Given the description of an element on the screen output the (x, y) to click on. 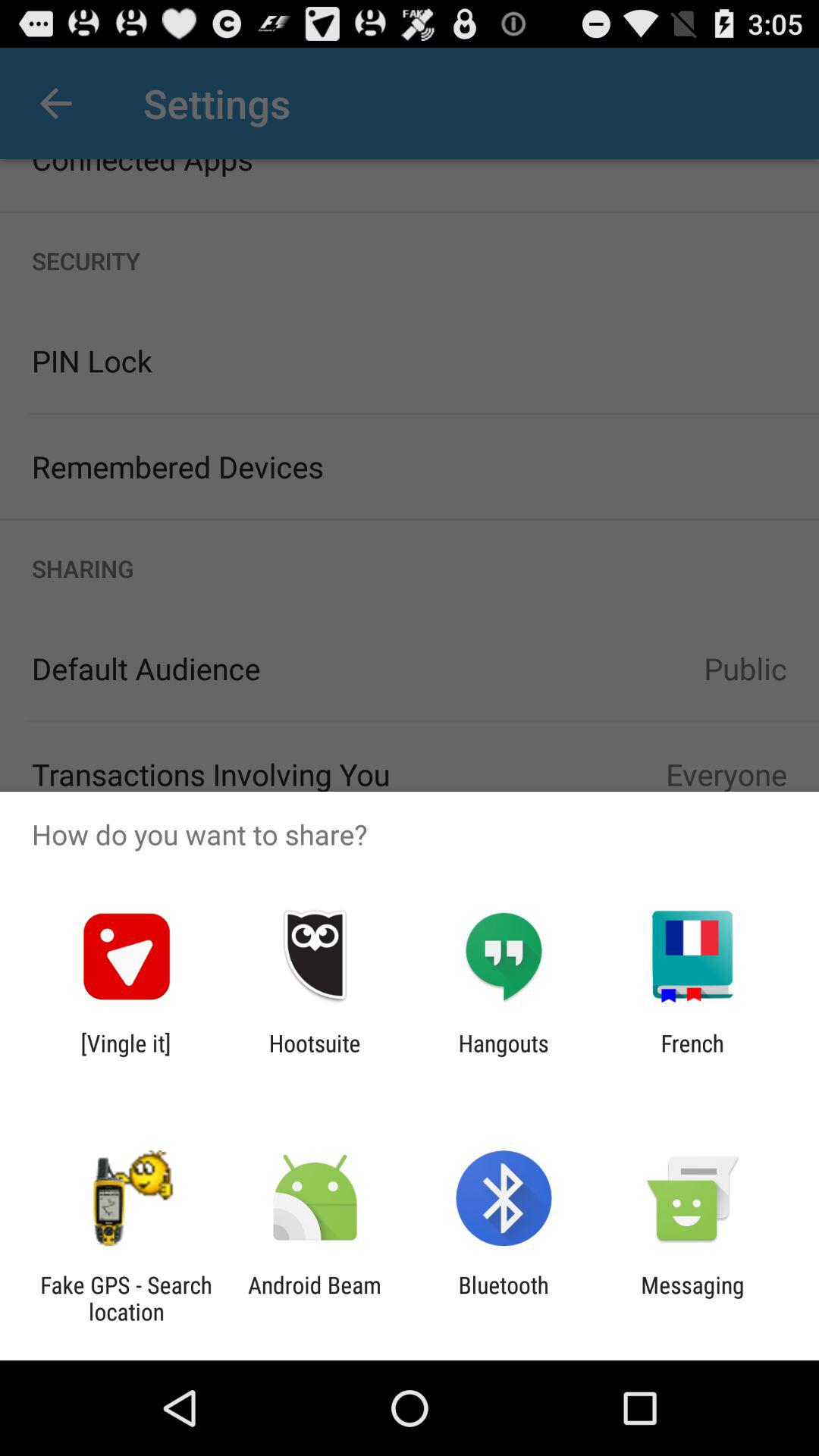
choose the icon to the left of the messaging app (503, 1298)
